Given the description of an element on the screen output the (x, y) to click on. 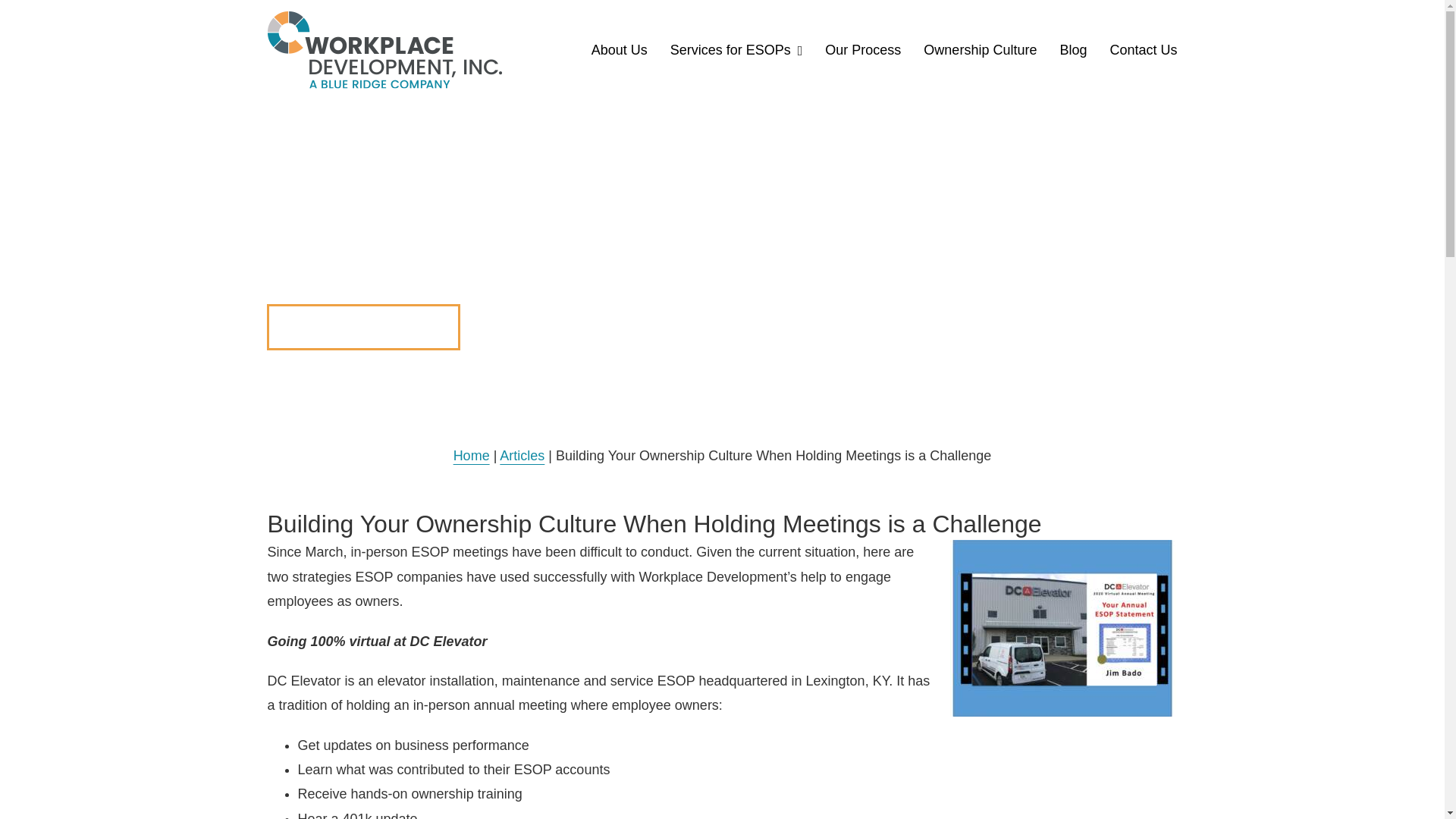
SCHEDULE A CALL (363, 326)
Home (470, 455)
Services for ESOPs (736, 49)
Ownership Culture (979, 49)
Articles (521, 455)
